Given the description of an element on the screen output the (x, y) to click on. 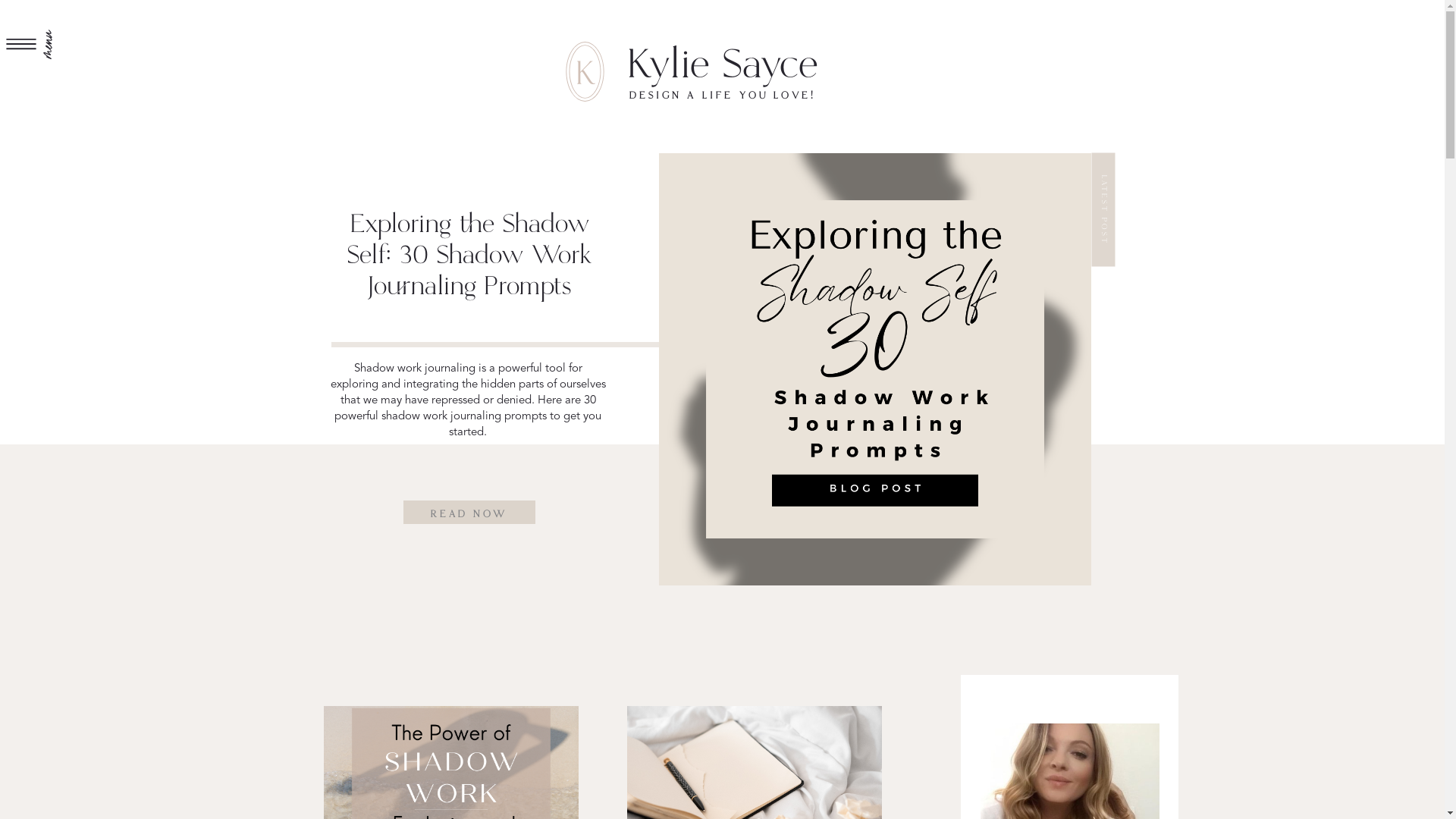
menu Element type: text (70, 20)
Exploring the Shadow Self: 30 Shadow Work Journaling Prompts Element type: hover (469, 512)
Exploring the Shadow Self: 30 Shadow Work Journaling Prompts Element type: hover (874, 369)
Exploring the Shadow Self: 30 Shadow Work Journaling Prompts Element type: text (469, 255)
READ NOW Element type: text (468, 512)
